Given the description of an element on the screen output the (x, y) to click on. 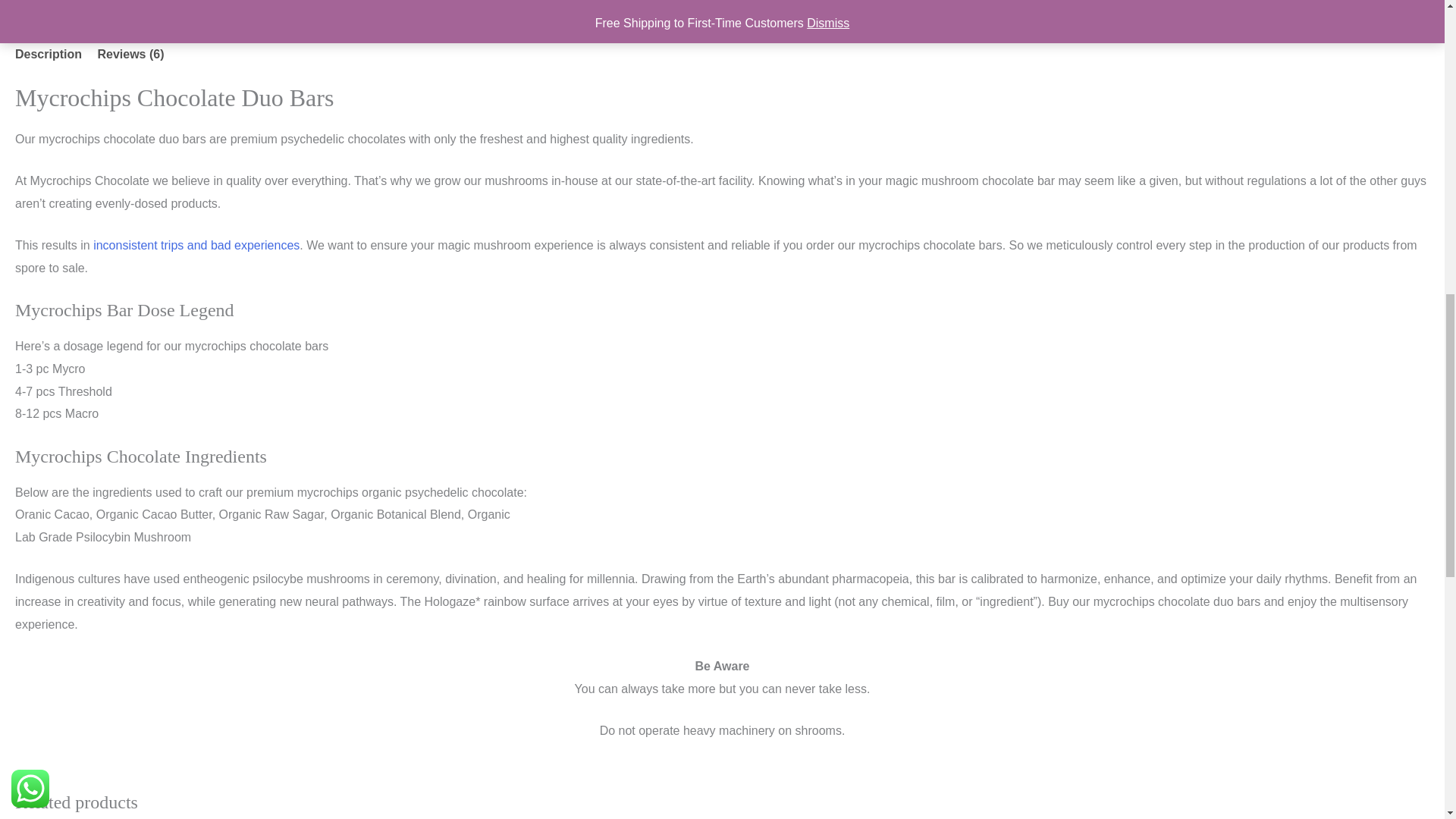
Description (47, 54)
inconsistent trips and bad experiences (196, 245)
